Given the description of an element on the screen output the (x, y) to click on. 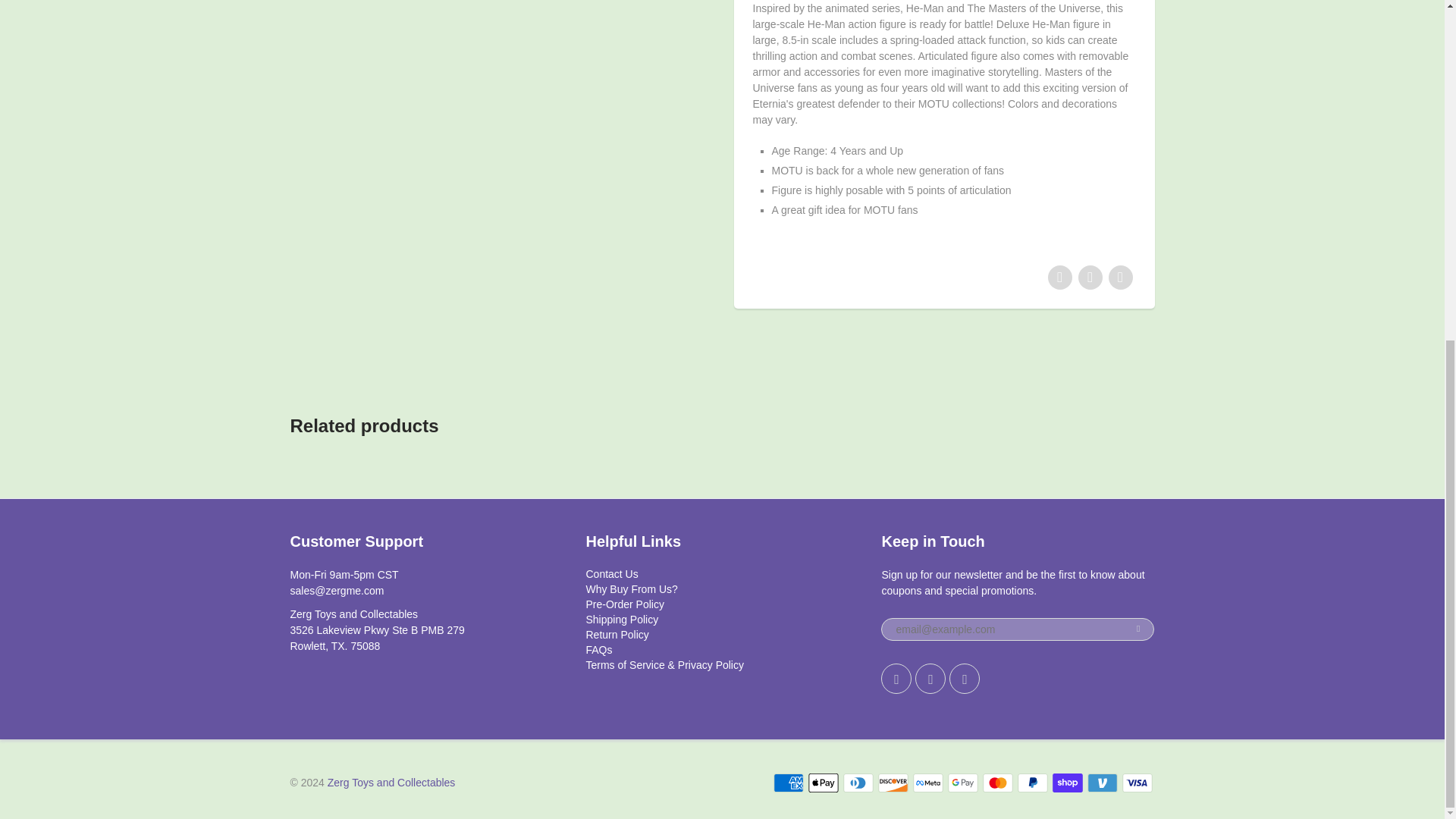
Google Pay (962, 782)
Mastercard (997, 782)
Visa (1137, 782)
Venmo (1102, 782)
Meta Pay (927, 782)
Facebook (929, 678)
Twitter (895, 678)
PayPal (1032, 782)
Shop Pay (1067, 782)
Diners Club (858, 782)
Apple Pay (823, 782)
Instagram (964, 678)
Discover (892, 782)
American Express (788, 782)
